Given the description of an element on the screen output the (x, y) to click on. 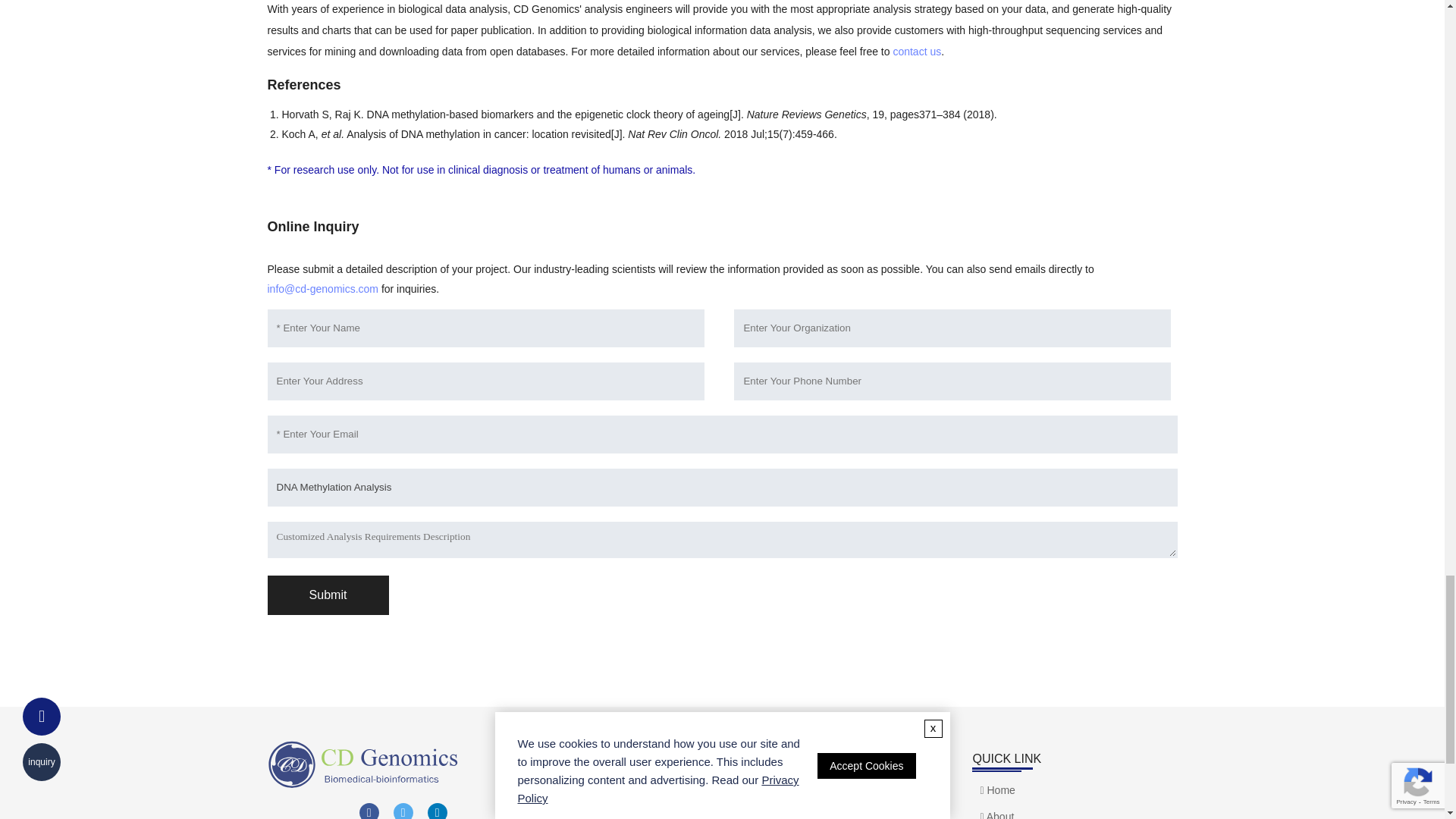
DNA Methylation Analysis (721, 487)
